Given the description of an element on the screen output the (x, y) to click on. 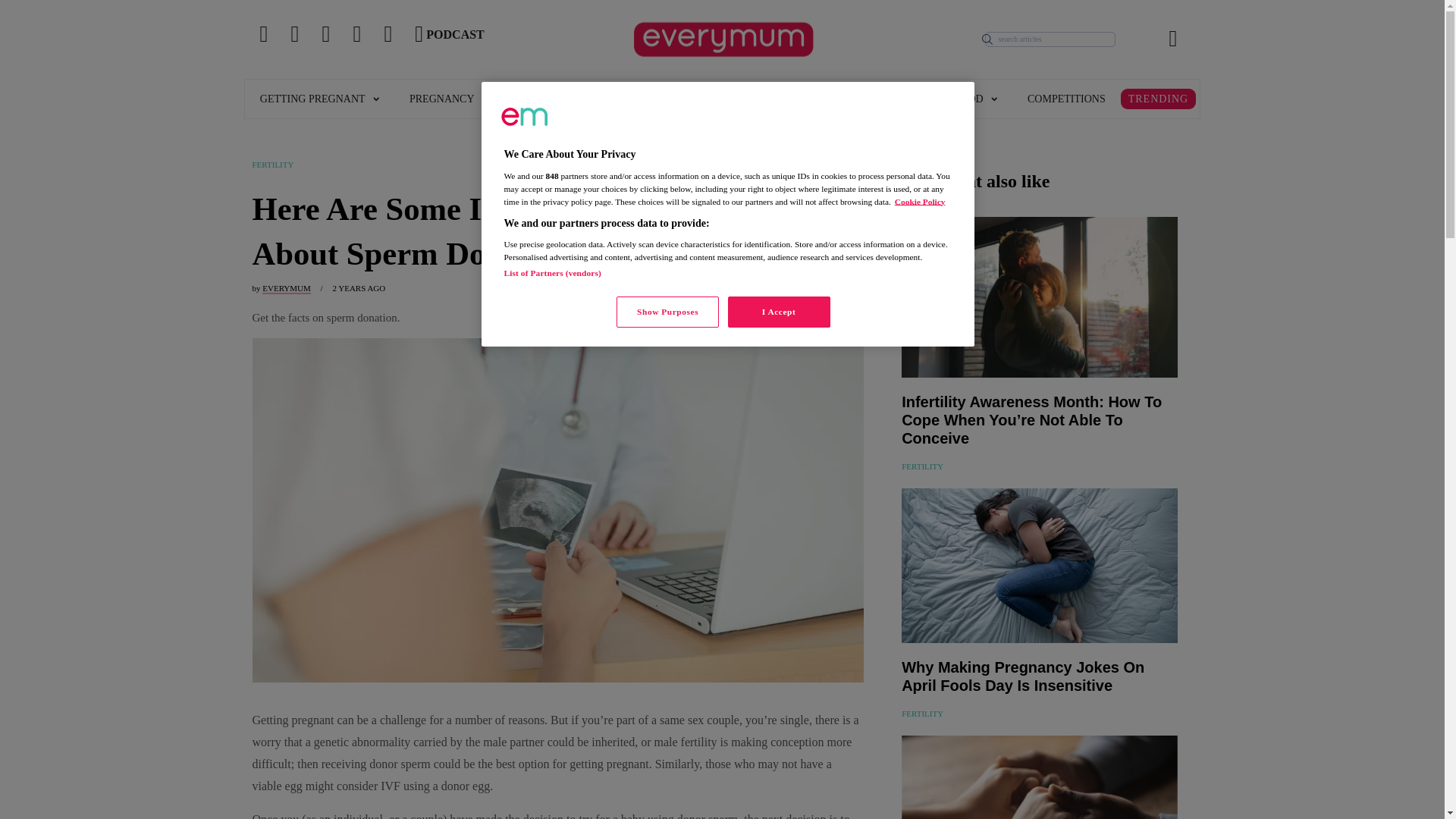
PODCAST (464, 39)
BABY (539, 98)
everymum (524, 116)
KIDS (611, 98)
Submit the search query (986, 38)
PREGNANCY (448, 98)
GETTING PREGNANT (319, 98)
